Given the description of an element on the screen output the (x, y) to click on. 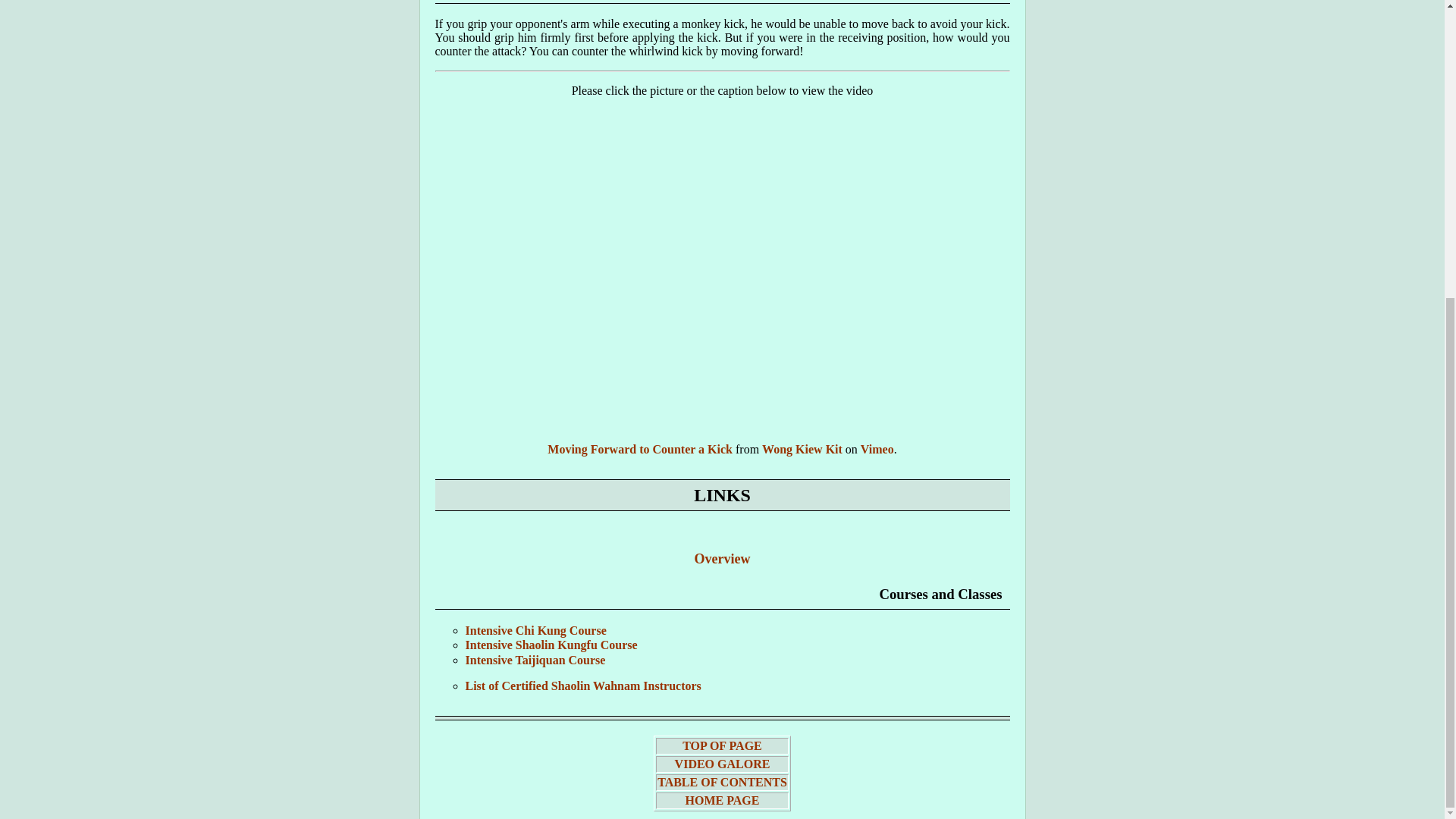
Intensive Taijiquan Course (535, 659)
